Given the description of an element on the screen output the (x, y) to click on. 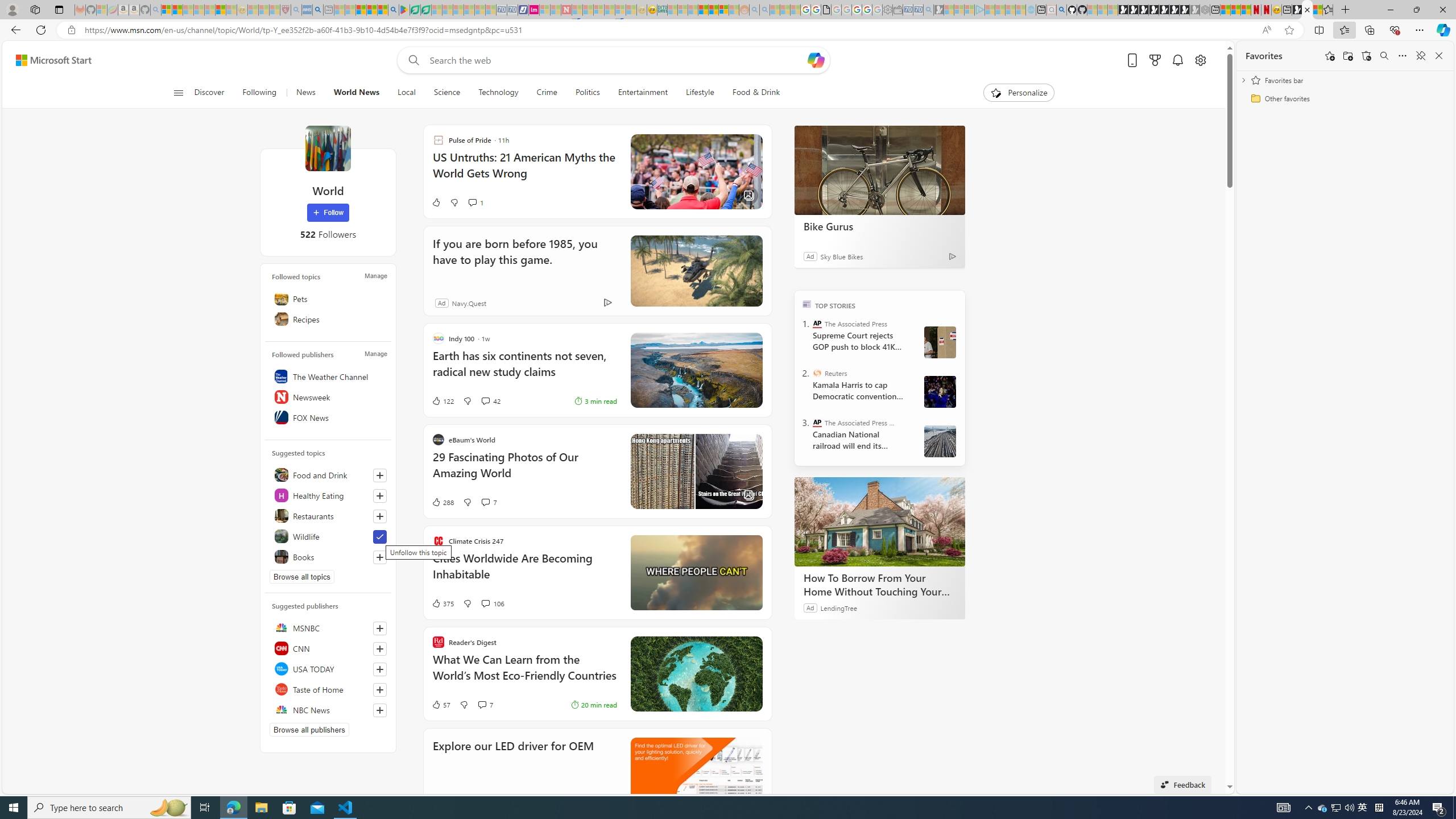
Earth has six continents not seven, radical new study claims (524, 369)
288 Like (442, 502)
